Given the description of an element on the screen output the (x, y) to click on. 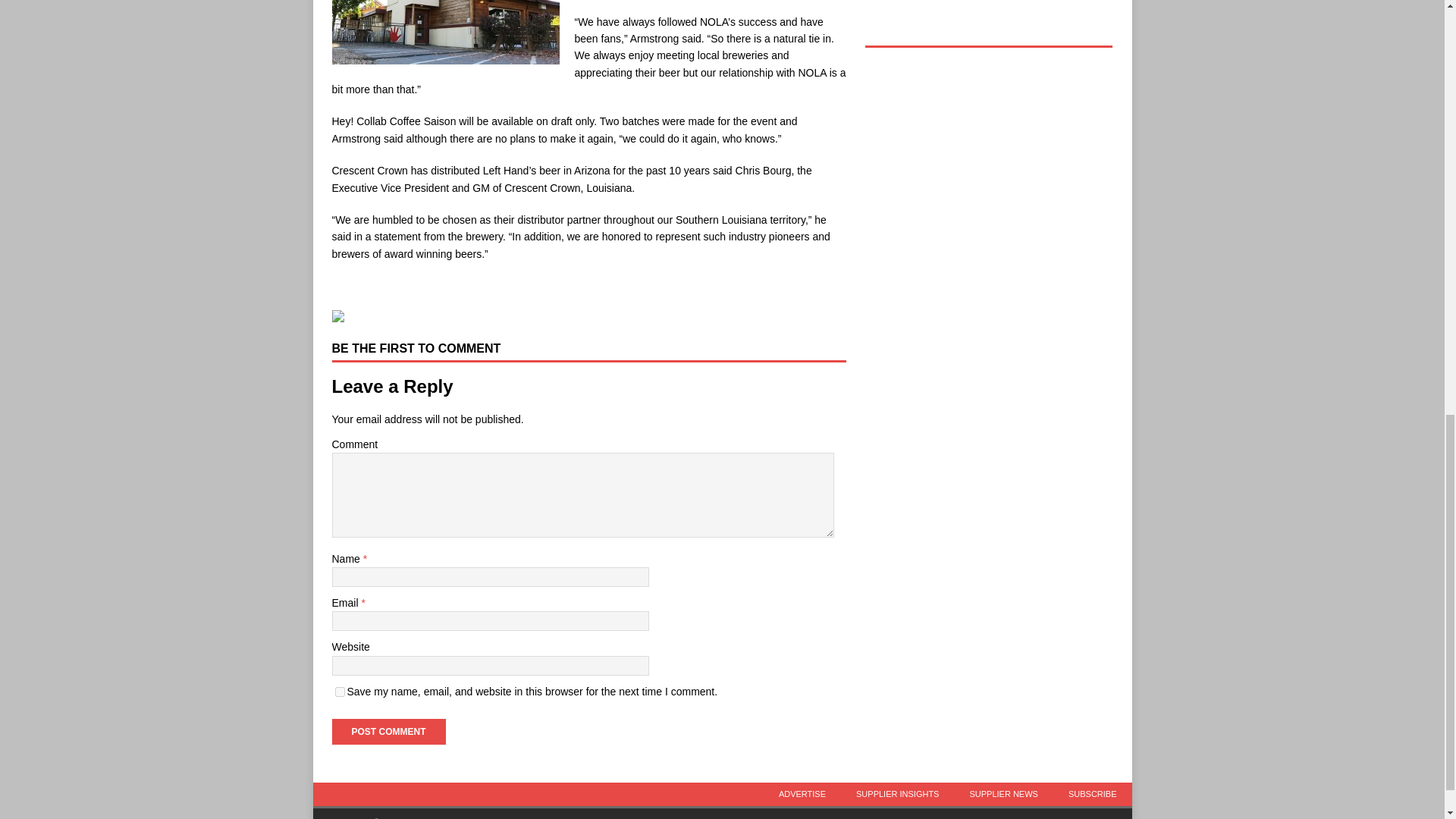
SUBSCRIBE (1092, 793)
SUPPLIER NEWS (1002, 793)
Post Comment (388, 731)
ADVERTISE (801, 793)
SUPPLIER INSIGHTS (897, 793)
yes (339, 691)
Post Comment (388, 731)
